Given the description of an element on the screen output the (x, y) to click on. 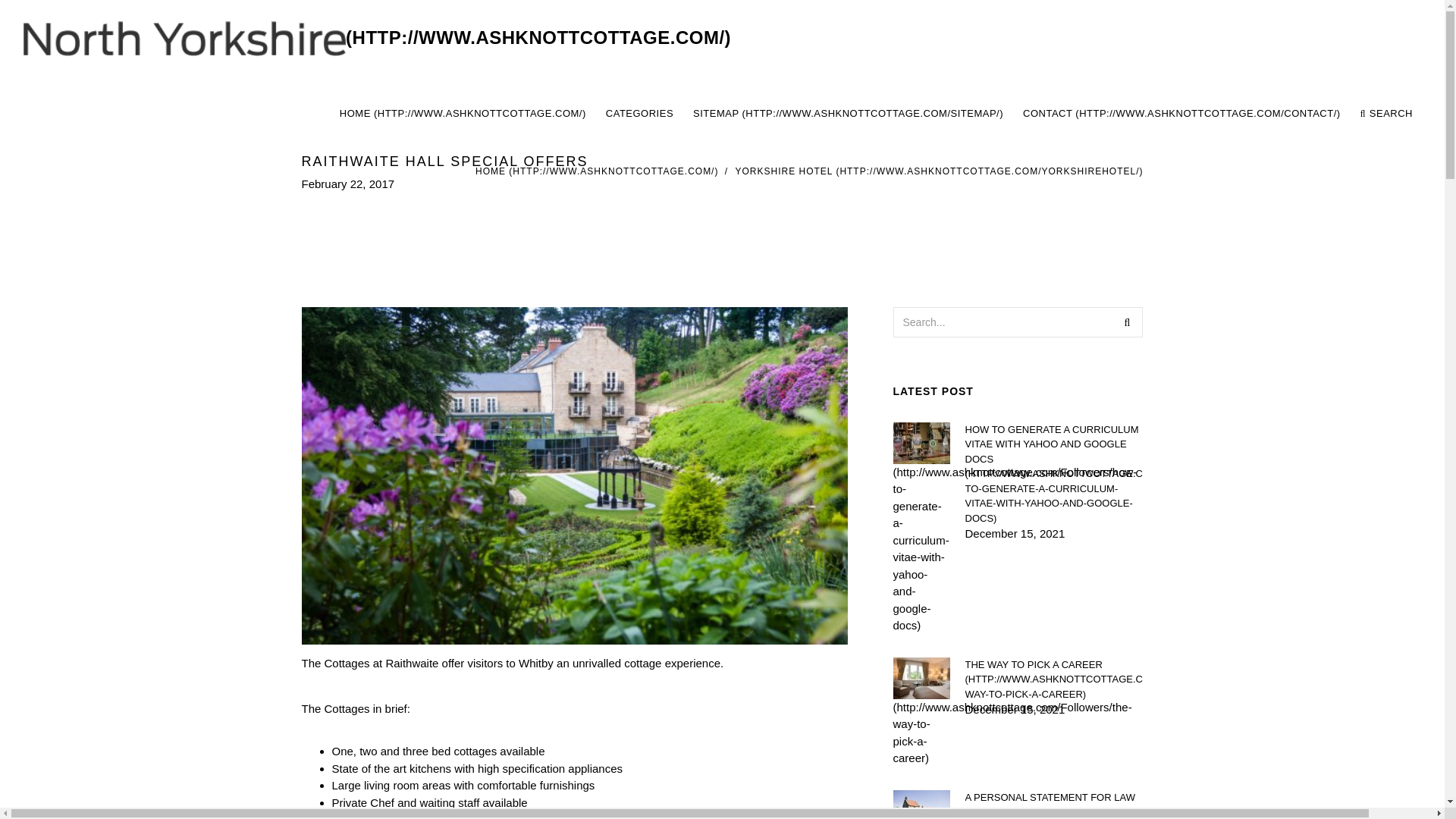
YORKSHIRE HOTEL (938, 171)
CONTACT (1181, 113)
North Yorkshire (376, 38)
SEARCH (1386, 113)
Search (1126, 321)
THE WAY TO PICK A CAREER (1052, 678)
SITEMAP (847, 113)
HOME (596, 171)
